Given the description of an element on the screen output the (x, y) to click on. 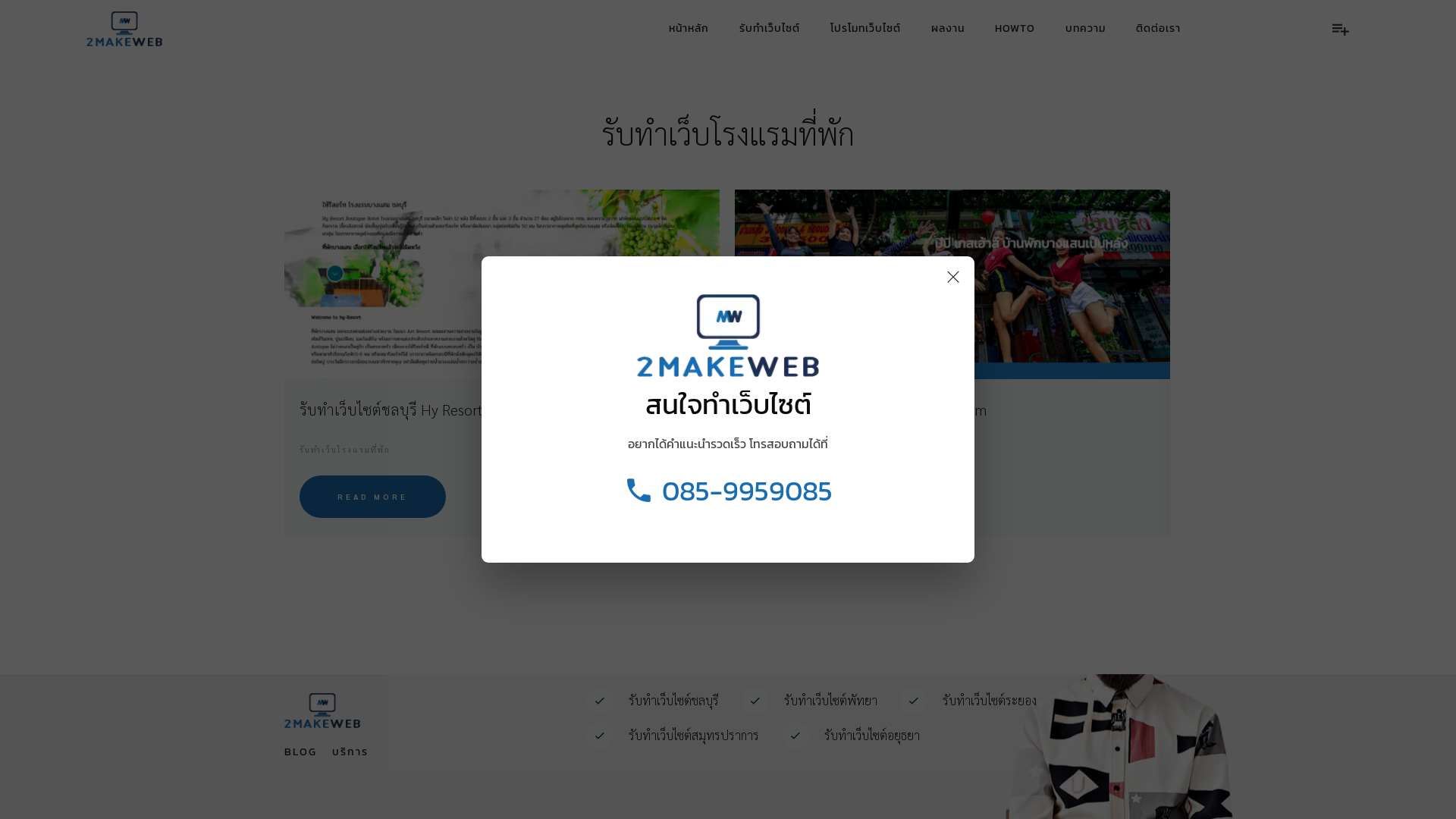
HOWTO Element type: text (1014, 28)
085-9959085 Element type: text (727, 489)
READ MORE Element type: text (372, 496)
READ MORE Element type: text (822, 496)
BLOG Element type: text (300, 751)
